Given the description of an element on the screen output the (x, y) to click on. 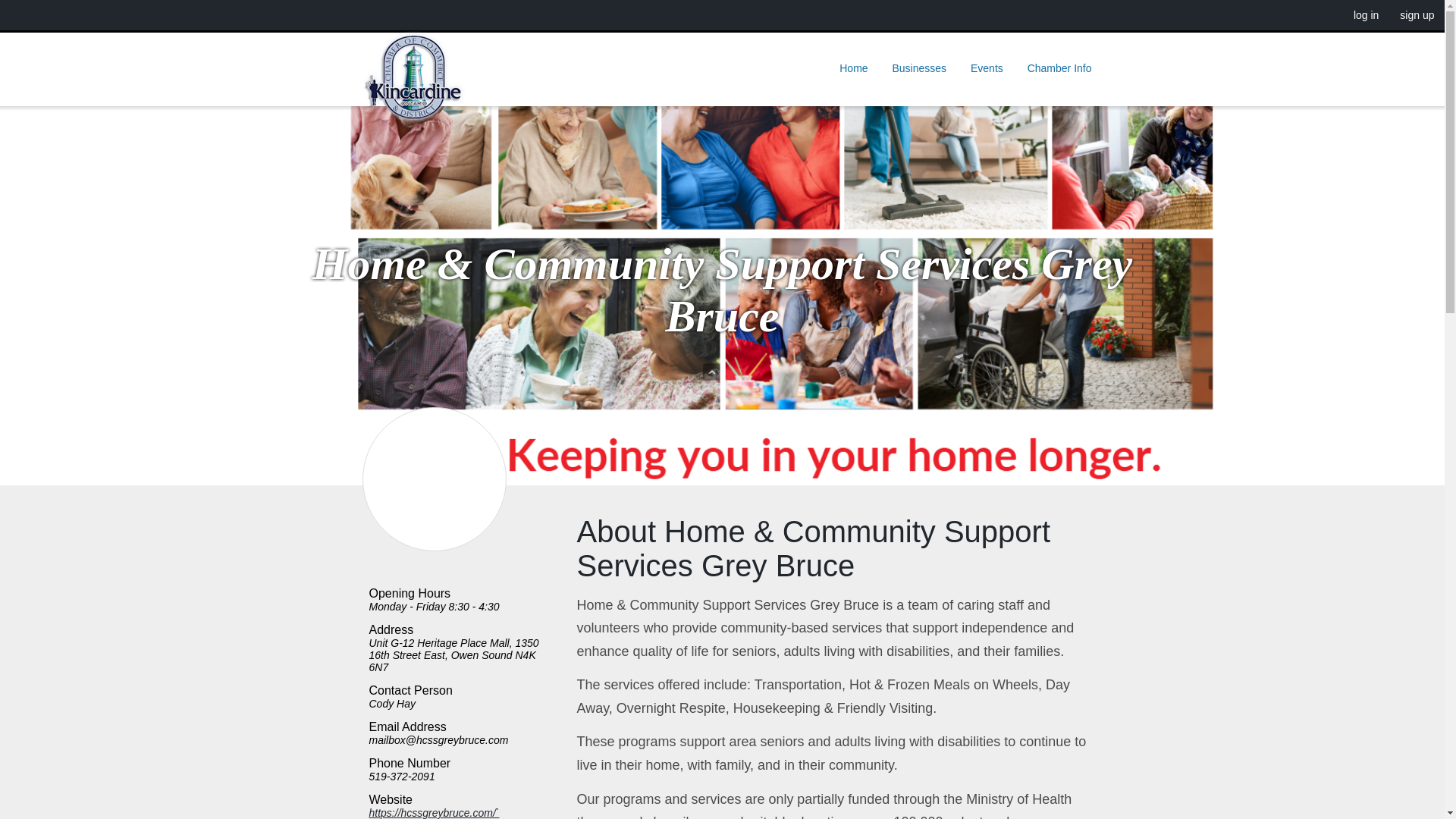
Chamber Info (1059, 67)
sign up (1416, 15)
Events (986, 67)
Businesses (918, 67)
Home (852, 67)
log in (1365, 15)
